Given the description of an element on the screen output the (x, y) to click on. 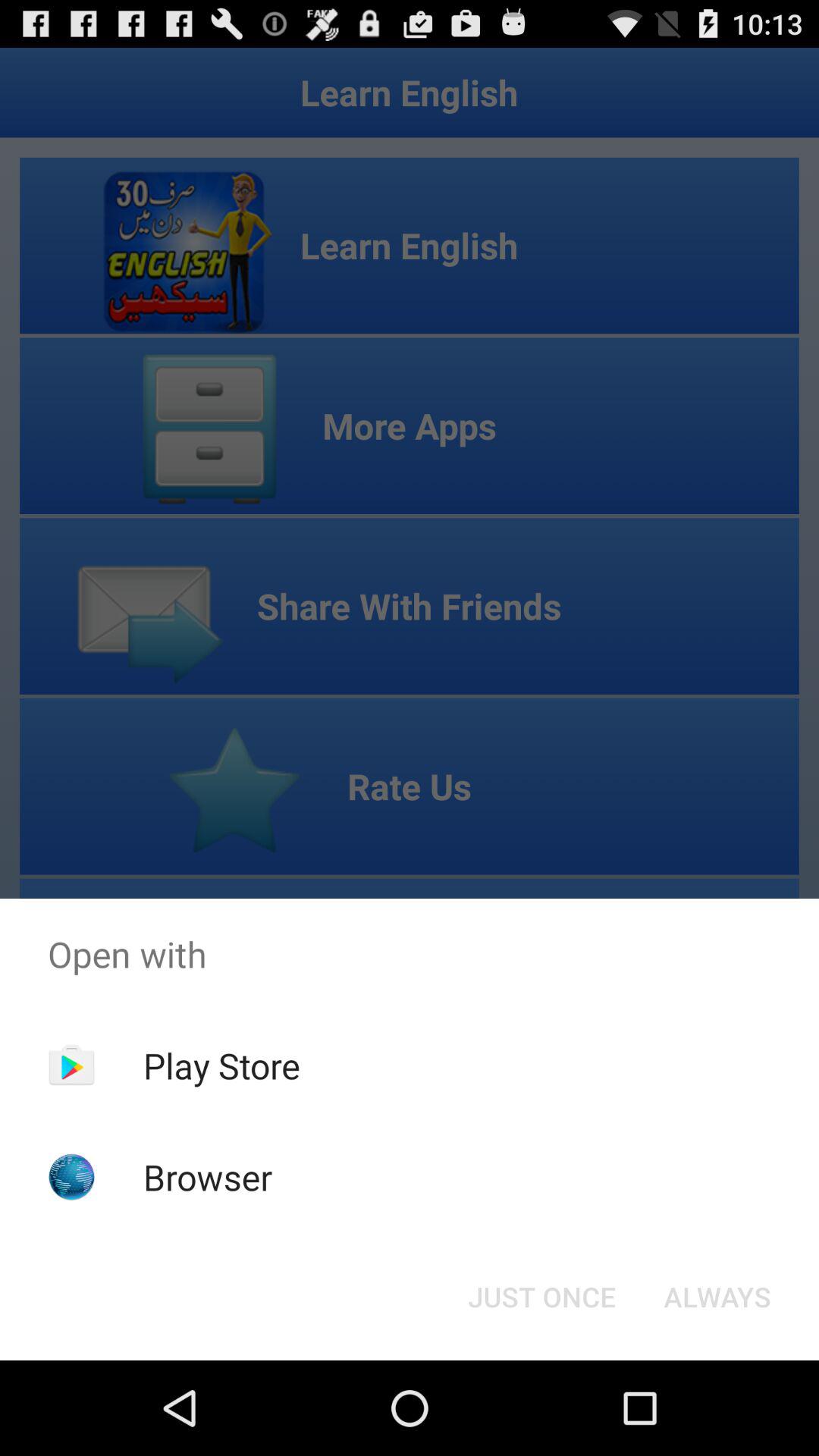
scroll to the always (717, 1296)
